Given the description of an element on the screen output the (x, y) to click on. 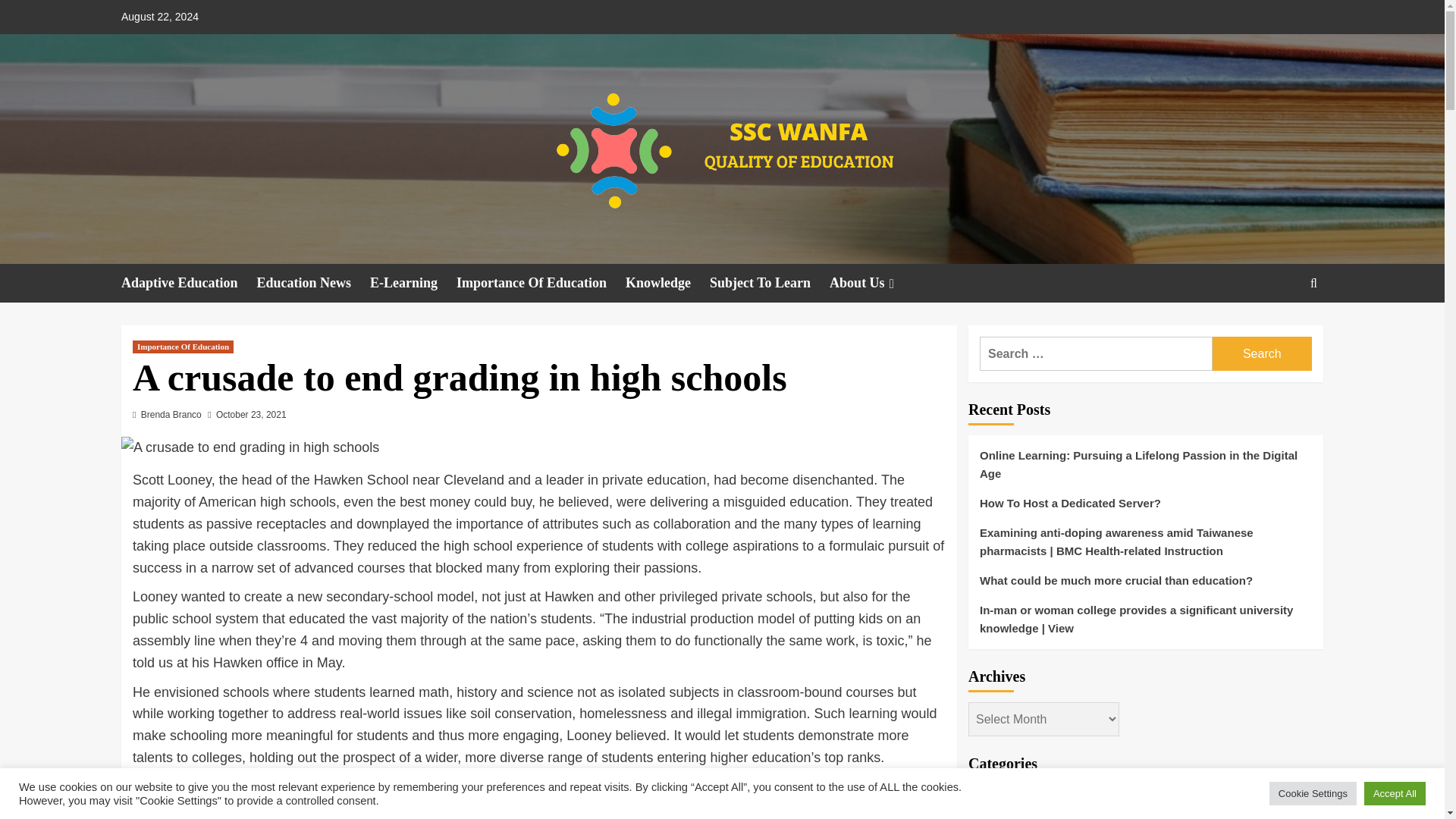
Education News (314, 282)
Knowledge (668, 282)
Brenda Branco (171, 414)
Search (1261, 353)
Search (1261, 353)
Importance Of Education (541, 282)
A crusade to end grading in high schools (249, 447)
Adaptive Education (188, 282)
Search (1278, 329)
Subject To Learn (769, 282)
